Given the description of an element on the screen output the (x, y) to click on. 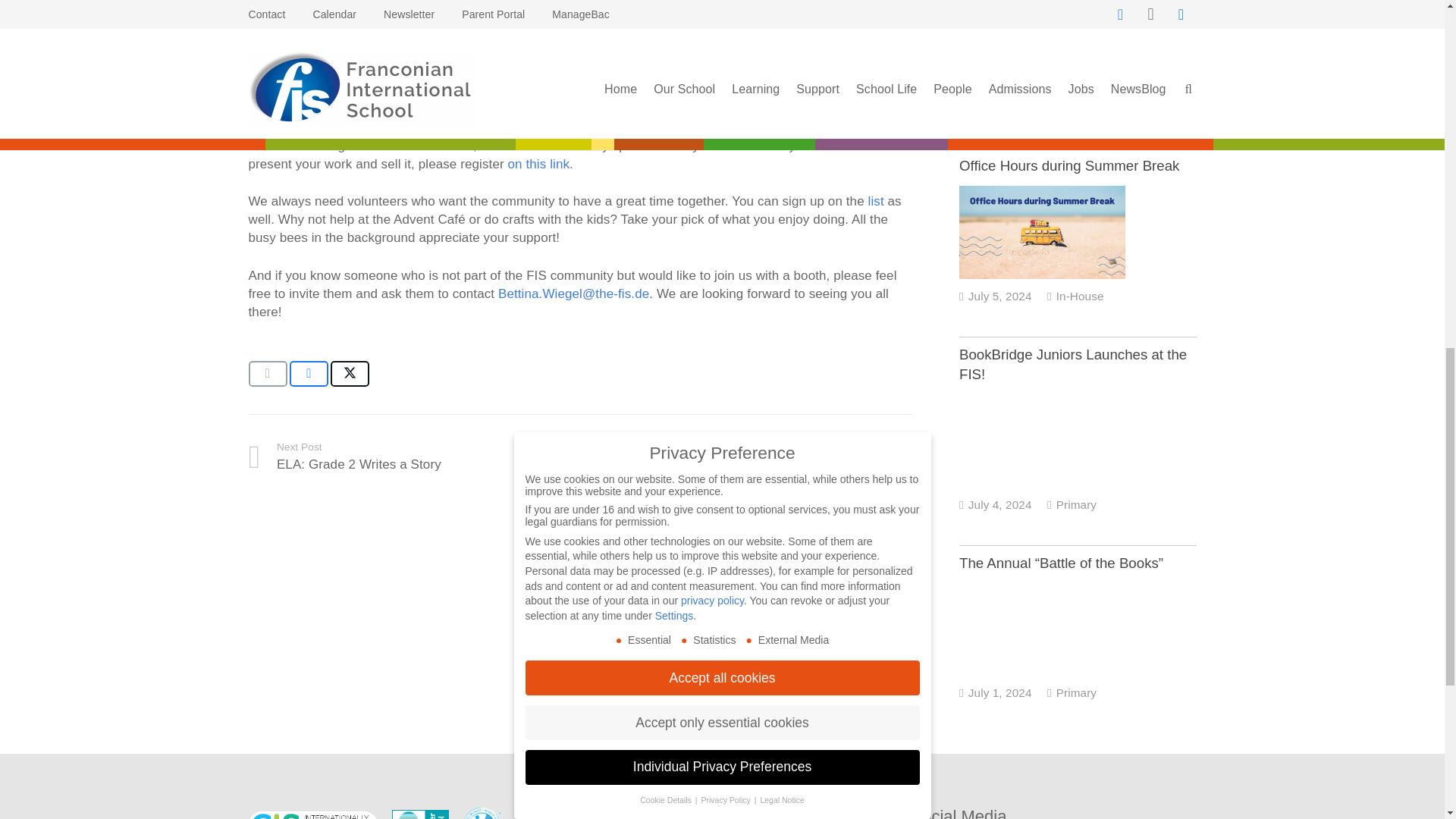
Back to top (1413, 26)
Email this (267, 373)
Latest GISST Updates (745, 457)
Tweet this (349, 373)
ELA: Grade 2 Writes a Story (414, 457)
Share this (309, 373)
